Given the description of an element on the screen output the (x, y) to click on. 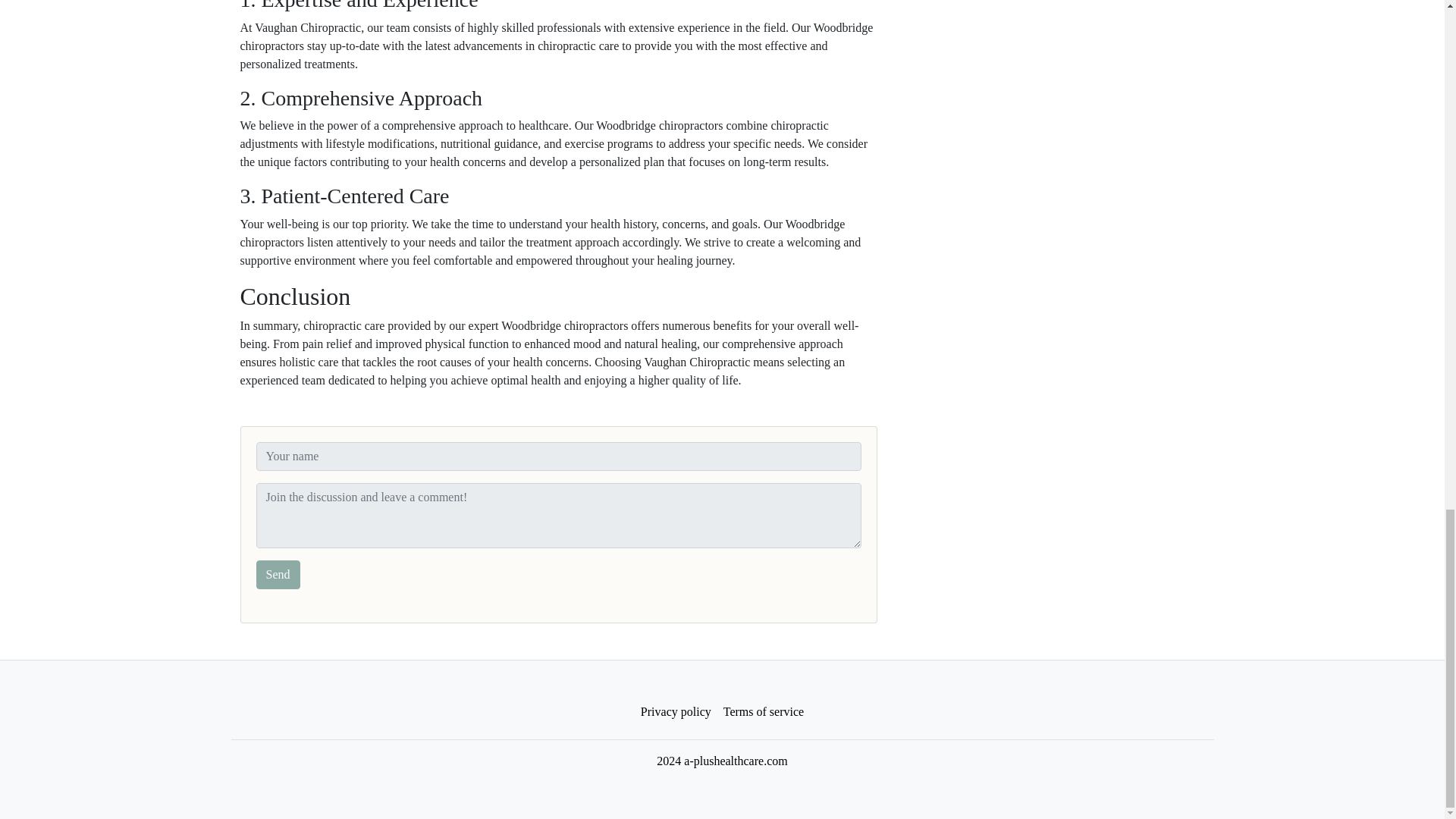
Send (277, 574)
Send (277, 574)
Terms of service (763, 711)
Privacy policy (675, 711)
